Given the description of an element on the screen output the (x, y) to click on. 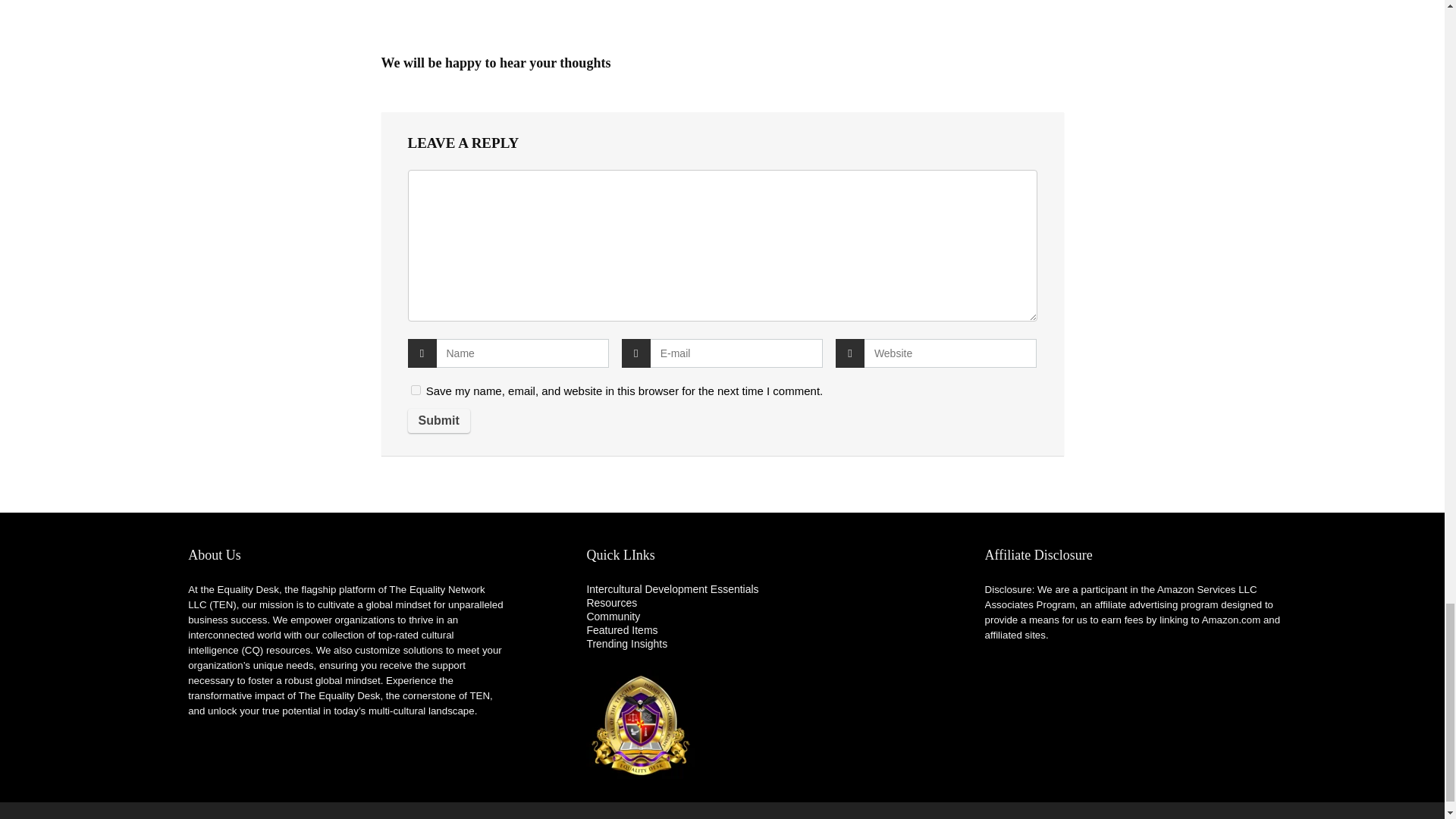
yes (415, 389)
Submit (438, 420)
